Given the description of an element on the screen output the (x, y) to click on. 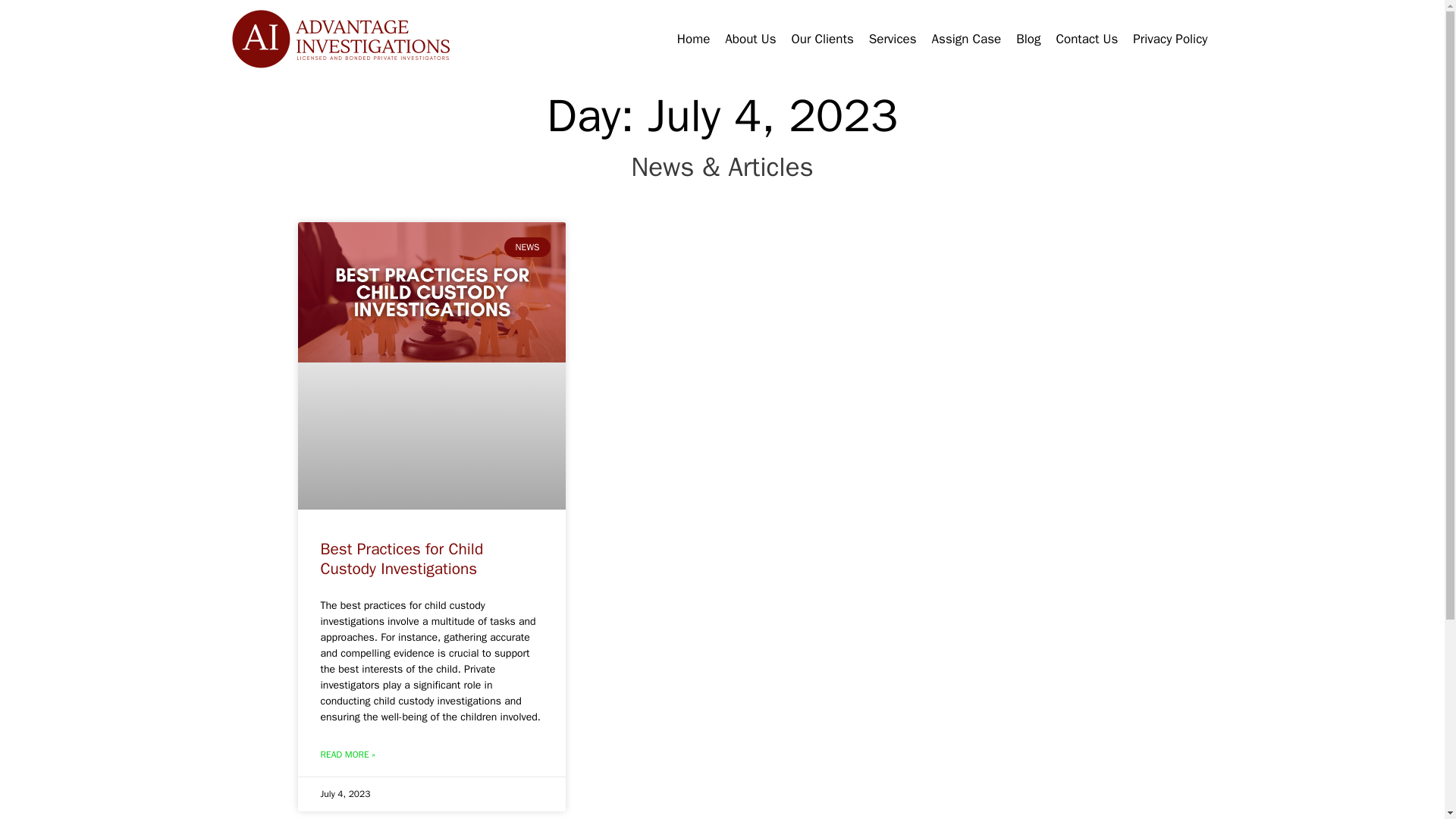
Services (892, 39)
Our Clients (822, 39)
Assign Case (966, 39)
Privacy Policy (1169, 39)
Contact Us (1086, 39)
Best Practices for Child Custody Investigations (401, 558)
Home (693, 39)
Blog (1028, 39)
About Us (750, 39)
